Given the description of an element on the screen output the (x, y) to click on. 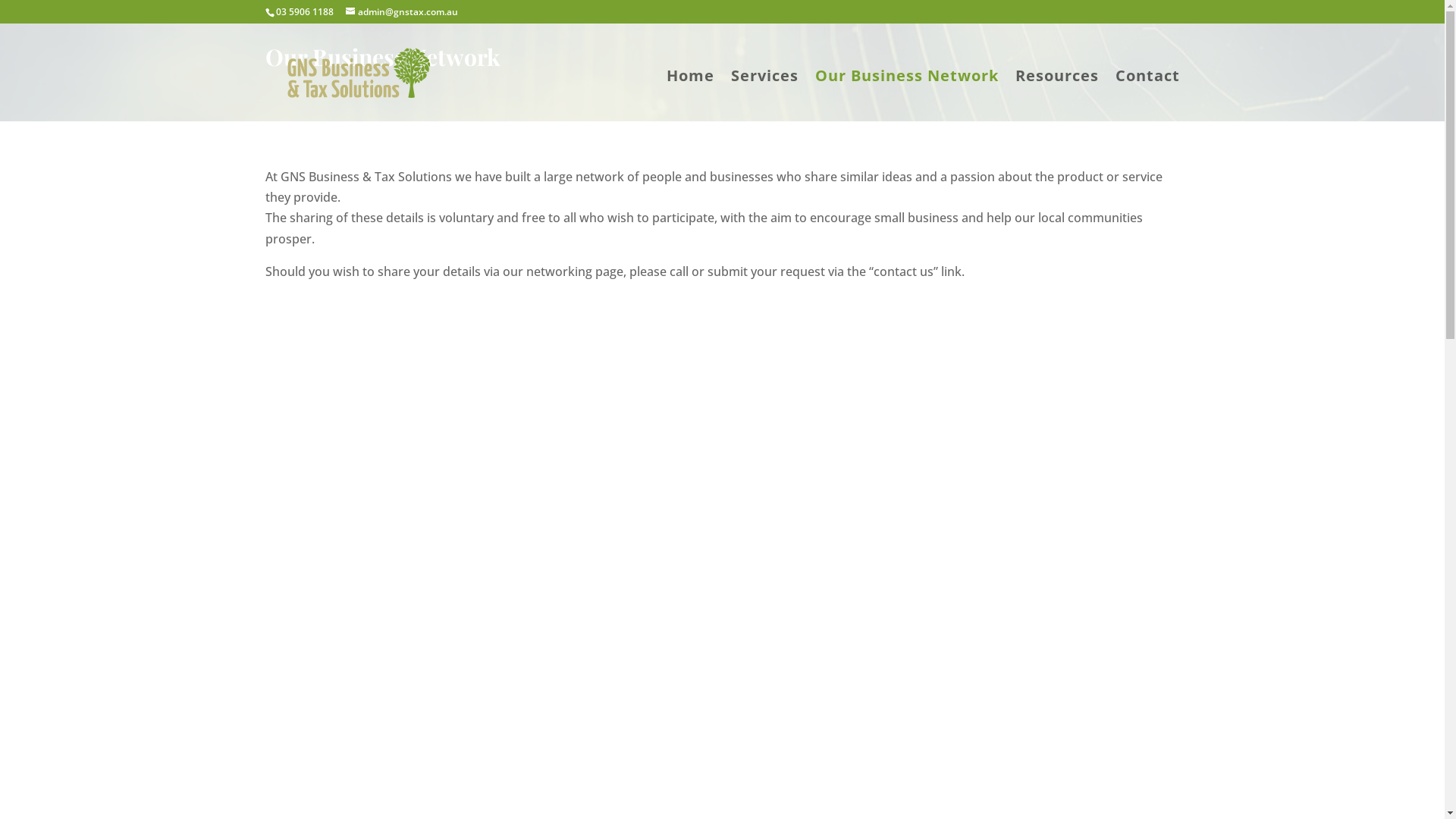
Services Element type: text (764, 93)
Home Element type: text (689, 93)
Our Business Network Element type: text (905, 93)
Contact Element type: text (1146, 93)
Resources Element type: text (1056, 93)
admin@gnstax.com.au Element type: text (401, 11)
